Given the description of an element on the screen output the (x, y) to click on. 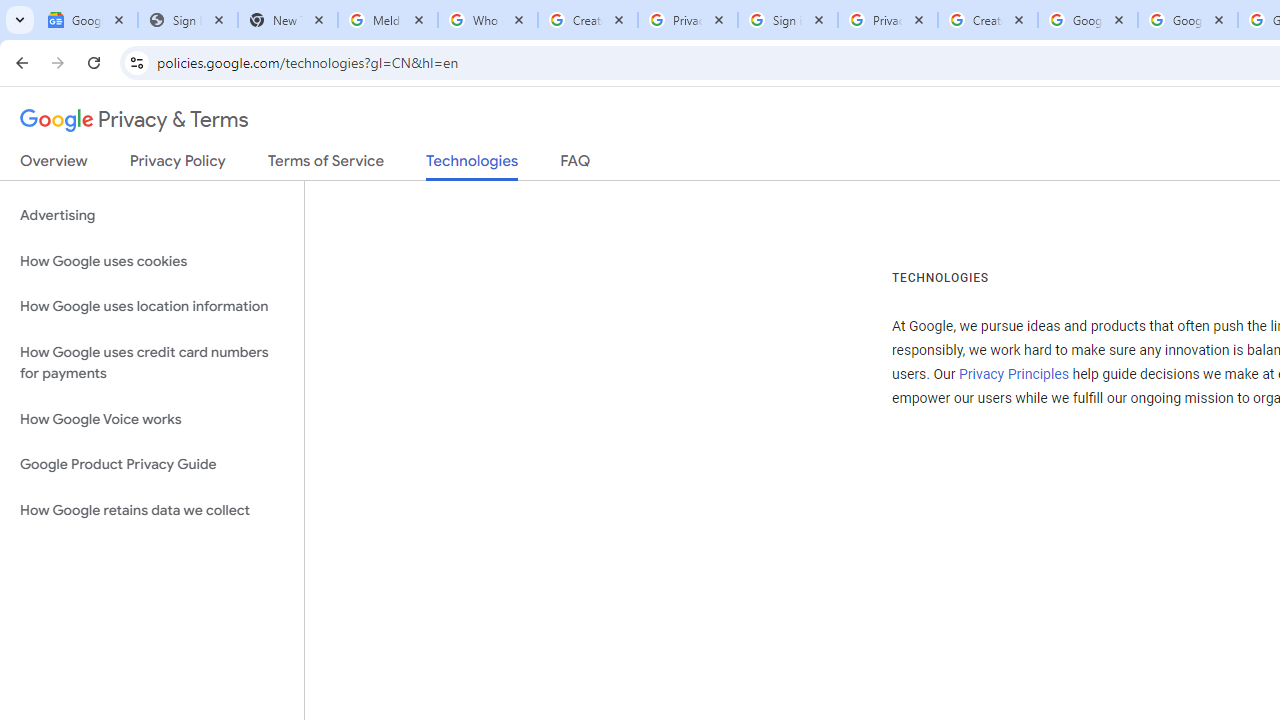
Sign in - Google Accounts (788, 20)
How Google uses cookies (152, 261)
How Google uses location information (152, 306)
